Given the description of an element on the screen output the (x, y) to click on. 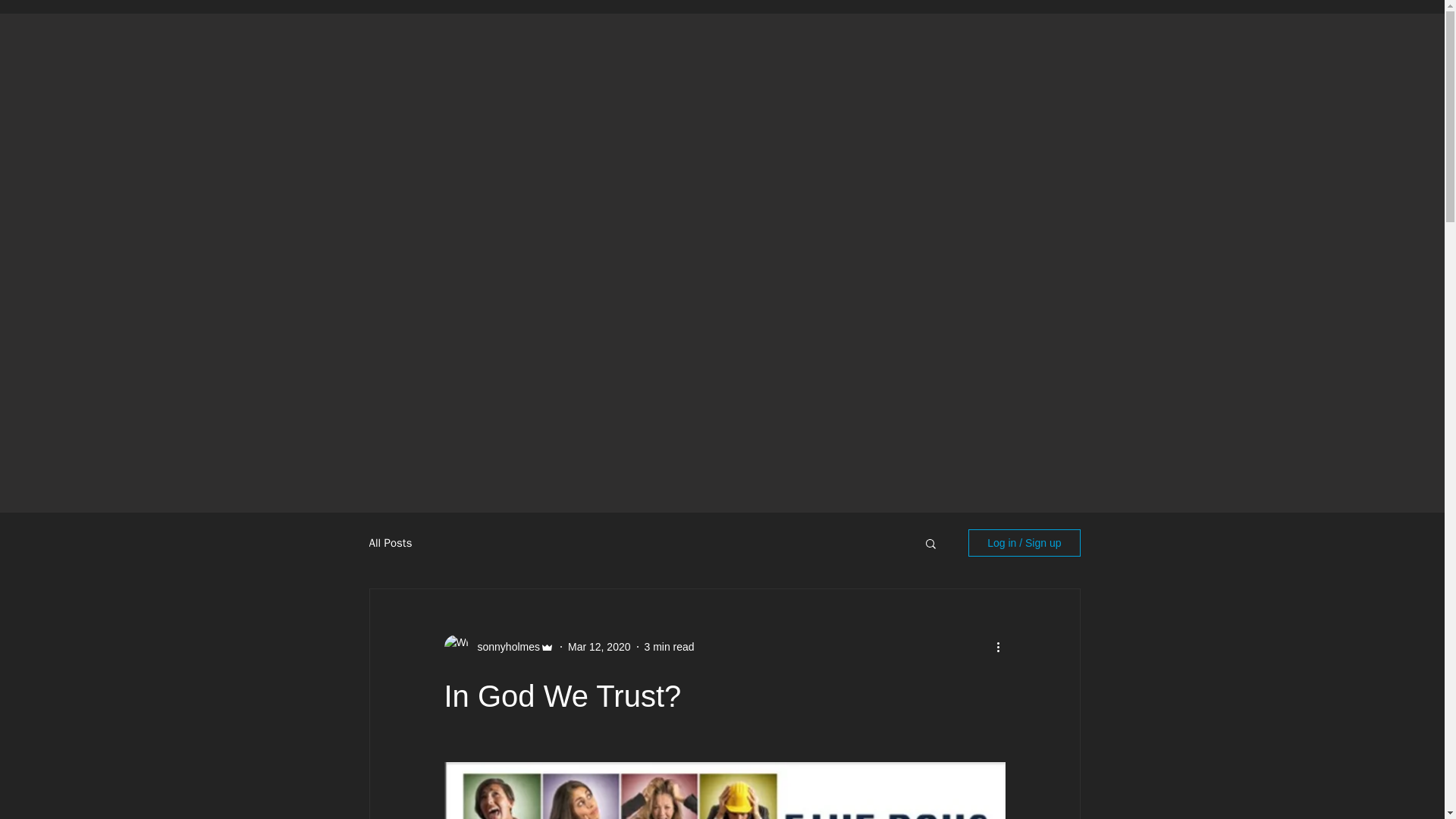
3 min read (669, 645)
sonnyholmes (504, 646)
Mar 12, 2020 (598, 645)
All Posts (390, 542)
